Given the description of an element on the screen output the (x, y) to click on. 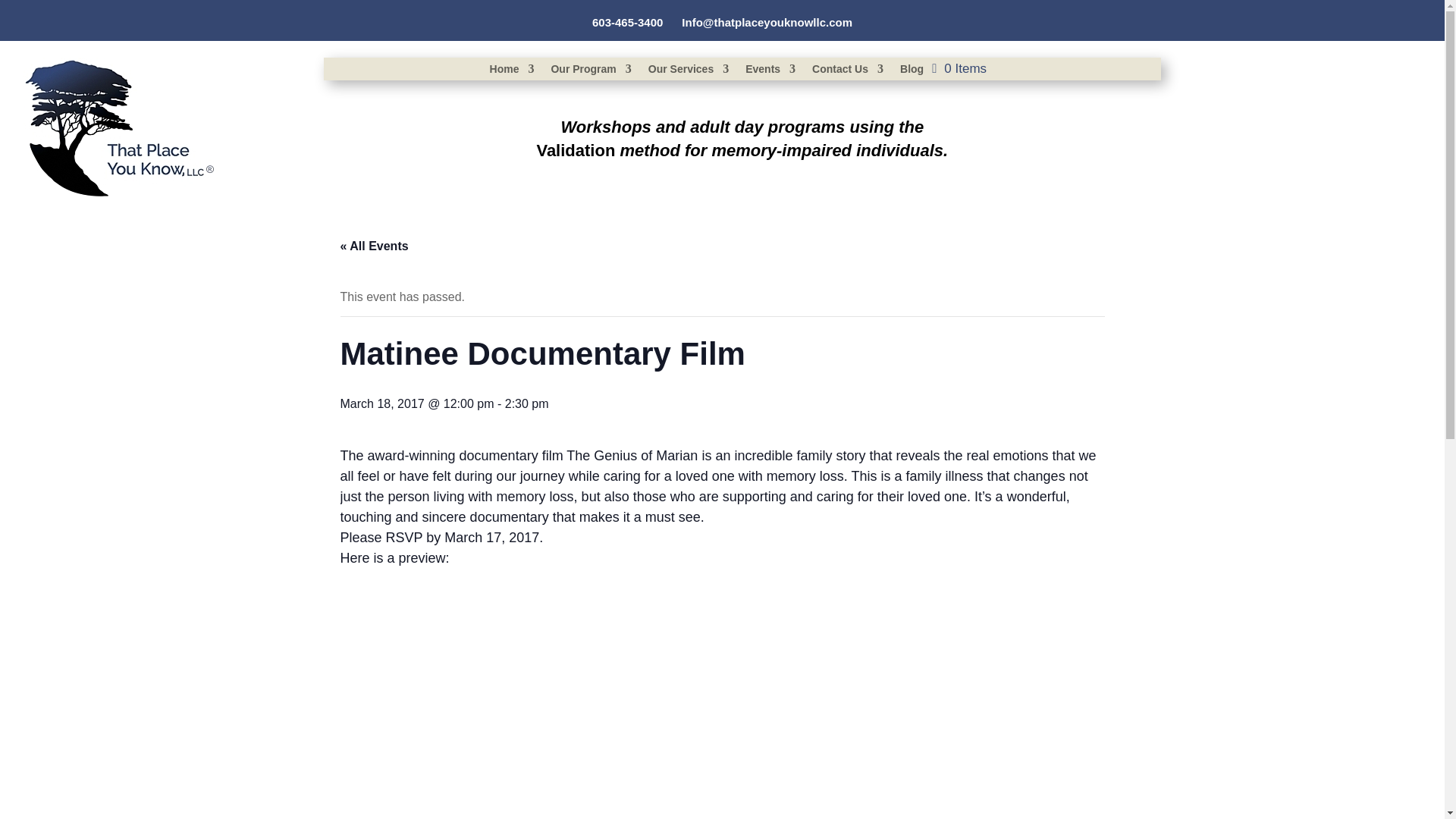
Our Services (688, 71)
Blog (911, 71)
Events (769, 71)
0 Items (959, 68)
Home (511, 71)
Our Program (590, 71)
LogoWithRegisteredTM (119, 128)
Contact Us (847, 71)
